Given the description of an element on the screen output the (x, y) to click on. 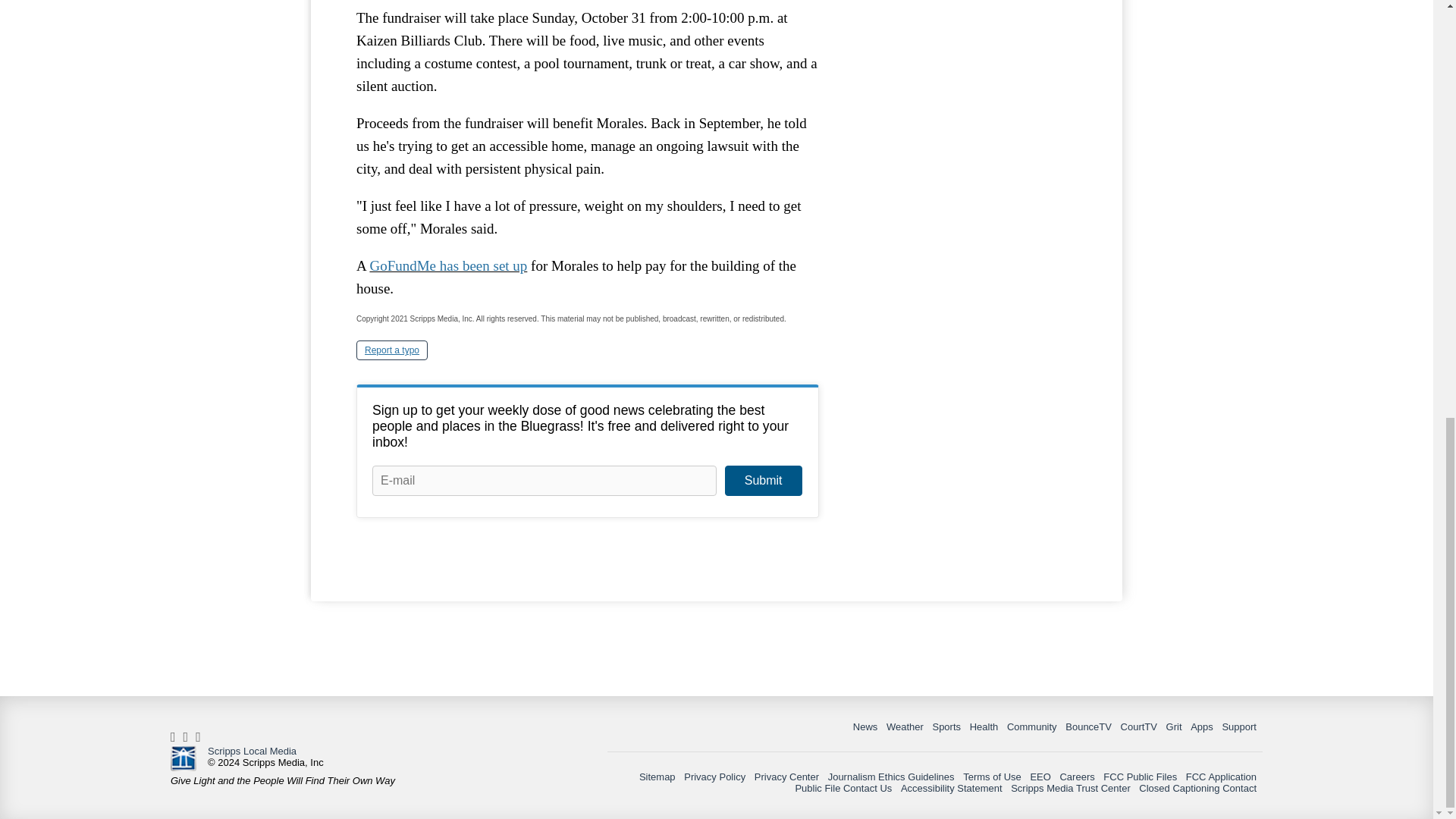
Submit (763, 481)
